Given the description of an element on the screen output the (x, y) to click on. 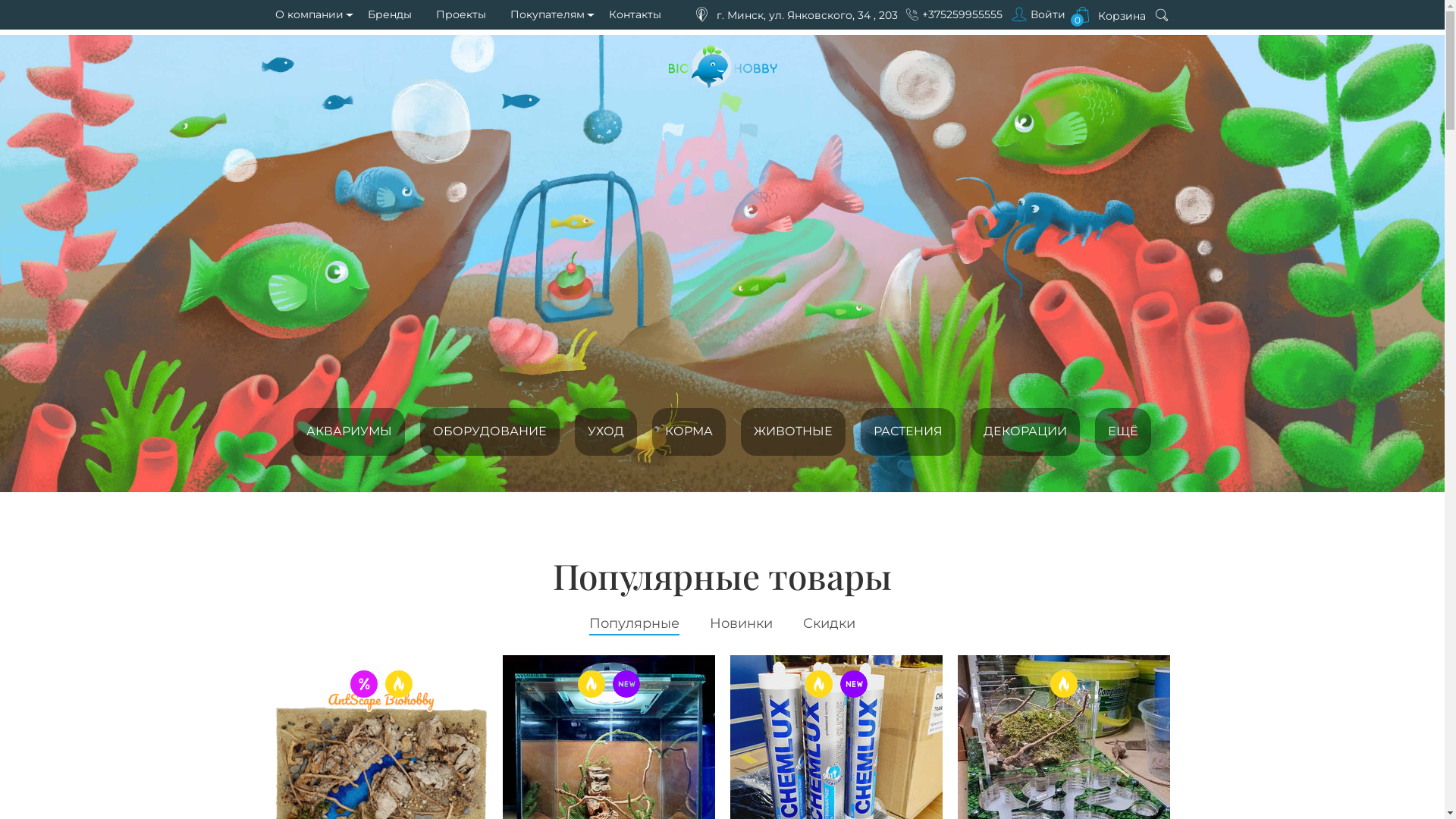
+375259955555 Element type: text (962, 13)
